Given the description of an element on the screen output the (x, y) to click on. 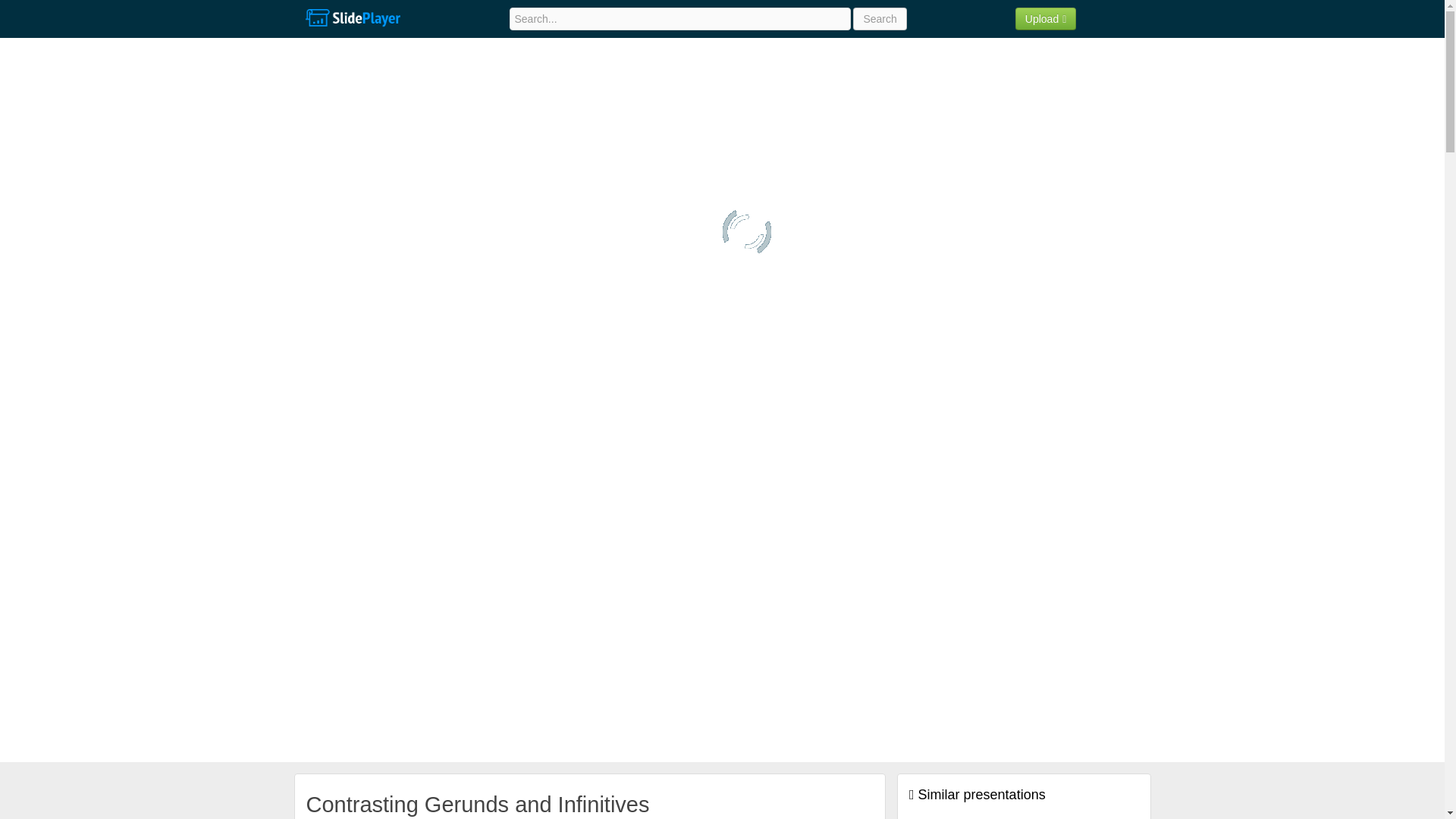
Search (879, 18)
Upload (1045, 18)
SlidePlayer (352, 18)
Presentation is loading. Please wait. (746, 232)
